Given the description of an element on the screen output the (x, y) to click on. 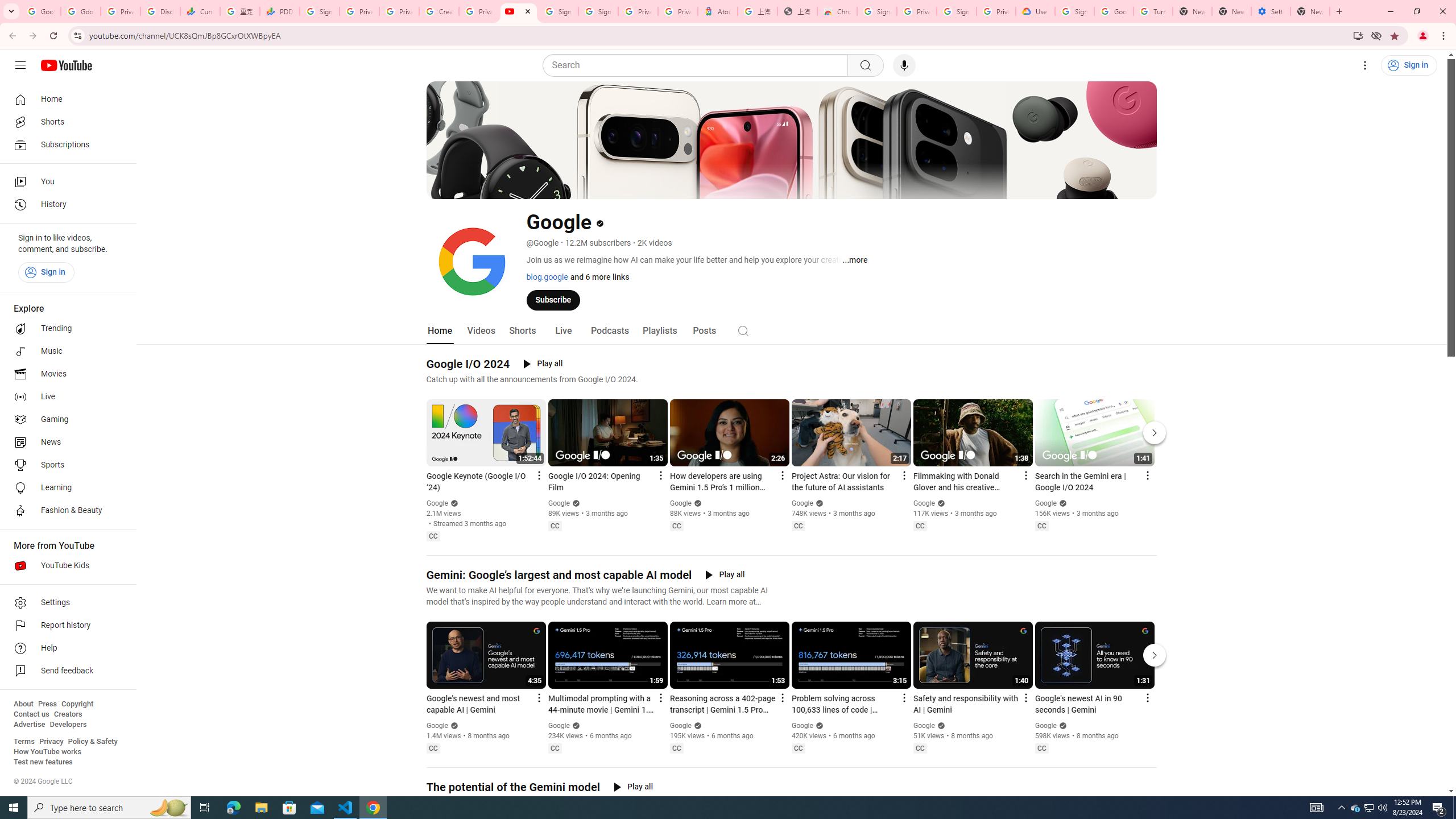
PDD Holdings Inc - ADR (PDD) Price & News - Google Finance (279, 11)
Sign in - Google Accounts (1074, 11)
Chrome Web Store - Color themes by Chrome (836, 11)
Music (64, 350)
Movies (64, 373)
Live (562, 330)
Closed captions (1041, 748)
Search with your voice (903, 65)
Privacy Checkup (398, 11)
Copyright (77, 703)
The potential of the Gemini model (512, 786)
Google (1046, 725)
